Given the description of an element on the screen output the (x, y) to click on. 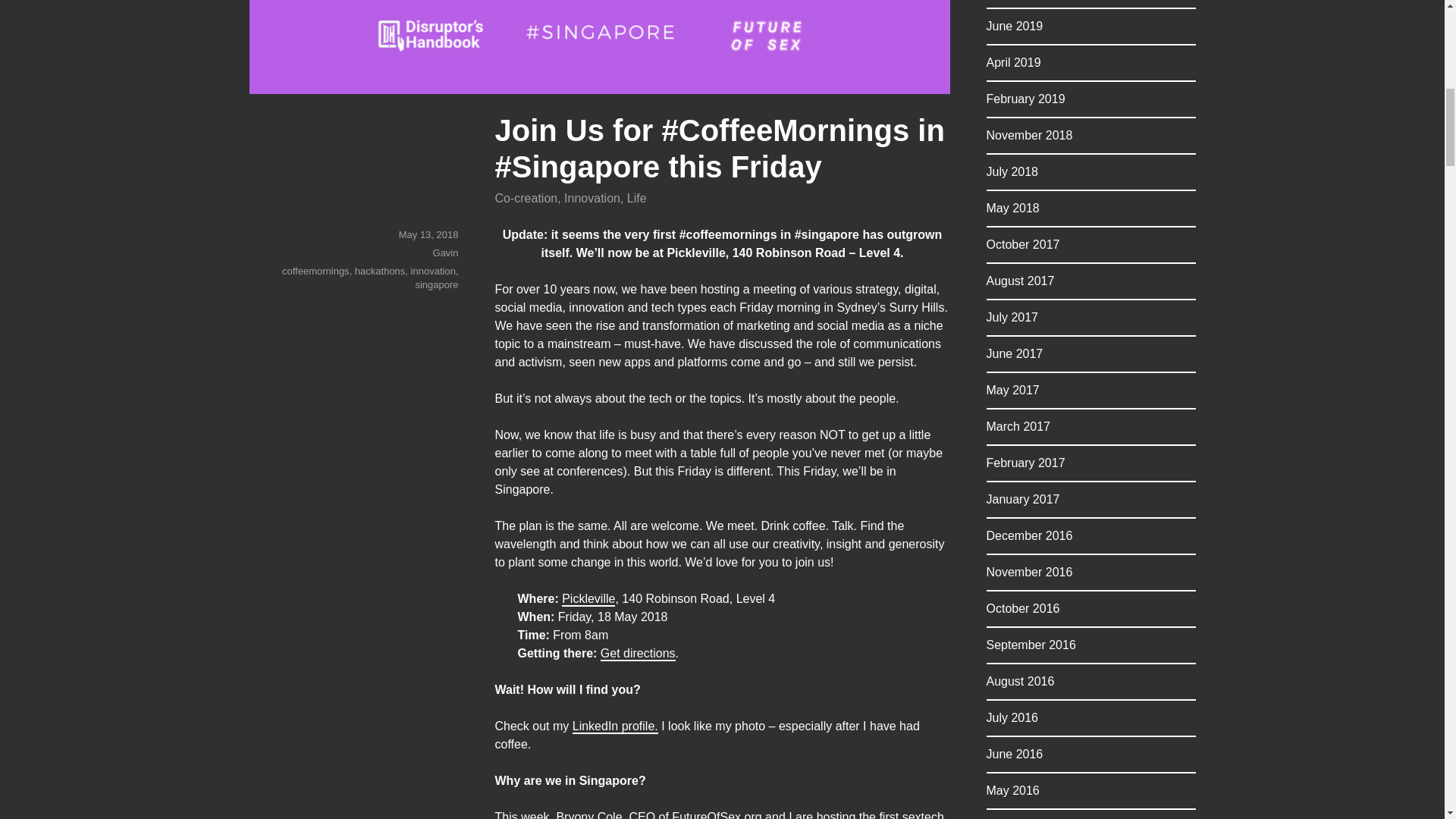
hackathons (380, 270)
LinkedIn profile. (615, 725)
FutureOfSex.org (716, 814)
May 13, 2018 (428, 234)
coffeemornings (315, 270)
singapore (436, 284)
Get directions (637, 653)
Pickleville (588, 598)
Life (636, 197)
innovation (432, 270)
sextech hackthon in Asia (719, 814)
Co-creation (526, 197)
Gavin (445, 252)
Innovation (592, 197)
